Given the description of an element on the screen output the (x, y) to click on. 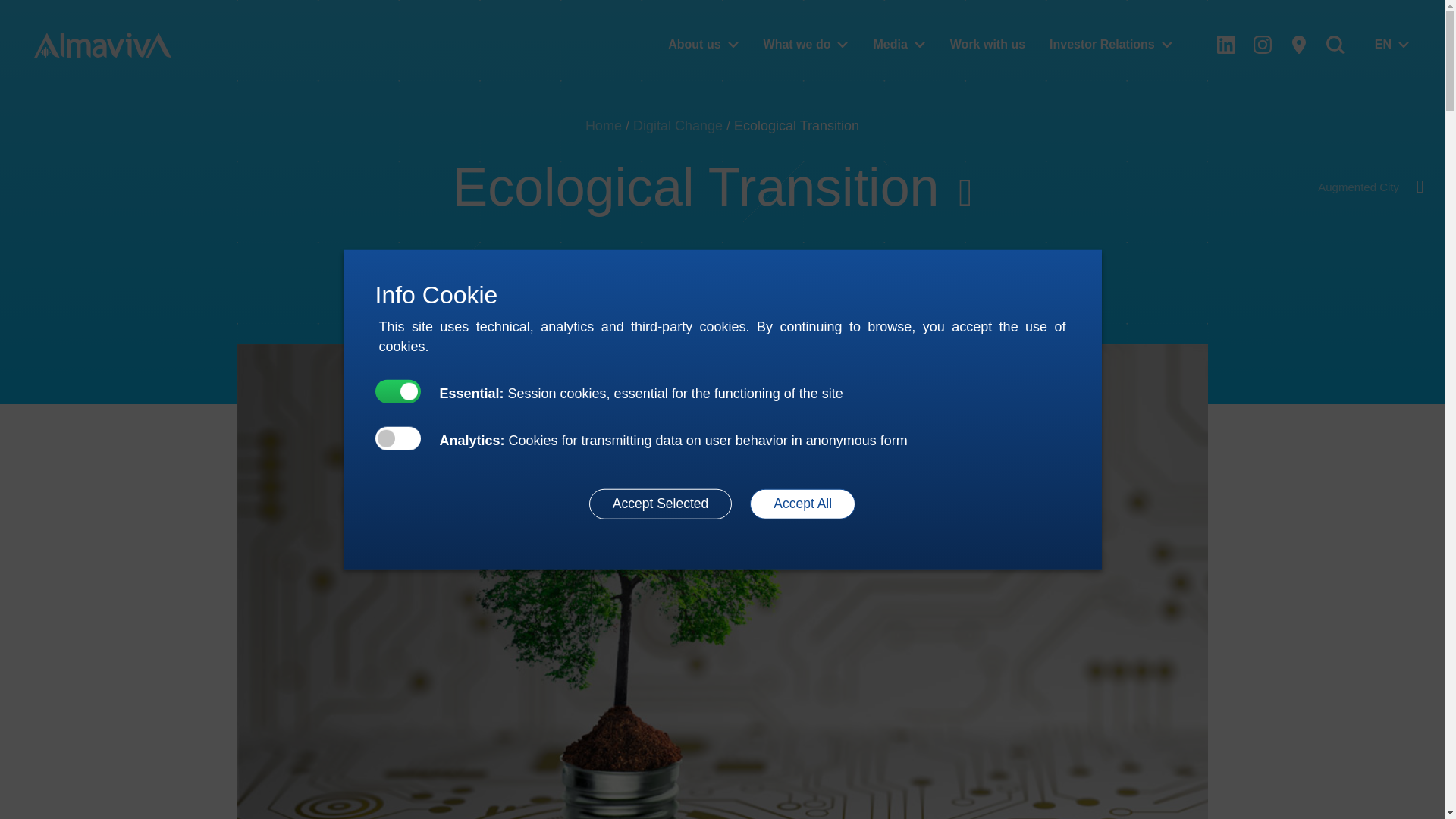
Investor Relations (1110, 45)
Work with us (986, 45)
Media (898, 45)
What we do (806, 45)
About us (703, 45)
Accept Selected (660, 503)
Accept All (802, 503)
